Given the description of an element on the screen output the (x, y) to click on. 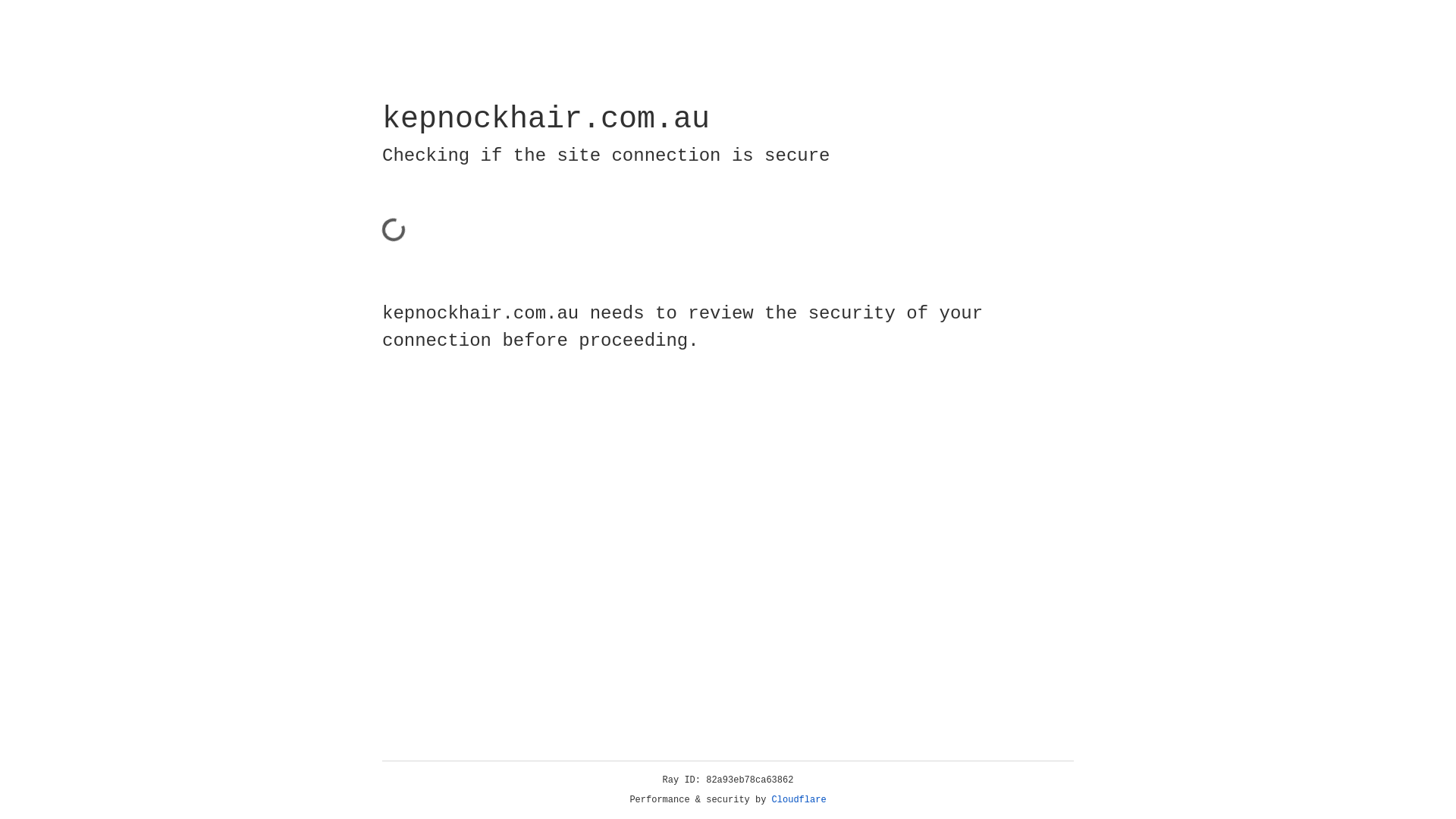
Cloudflare Element type: text (798, 799)
